Given the description of an element on the screen output the (x, y) to click on. 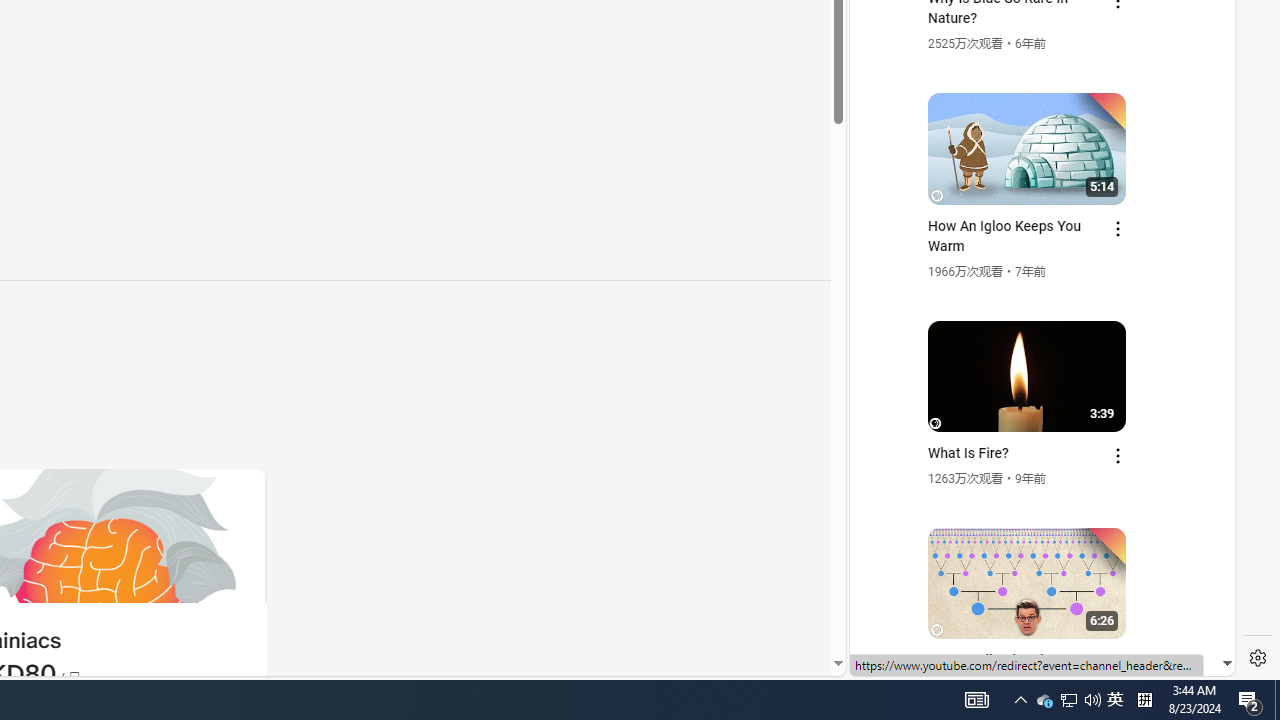
Class: dict_pnIcon rms_img (1028, 660)
YouTube - YouTube (1034, 266)
US[ju] (917, 660)
you (1034, 609)
YouTube (1034, 432)
